Given the description of an element on the screen output the (x, y) to click on. 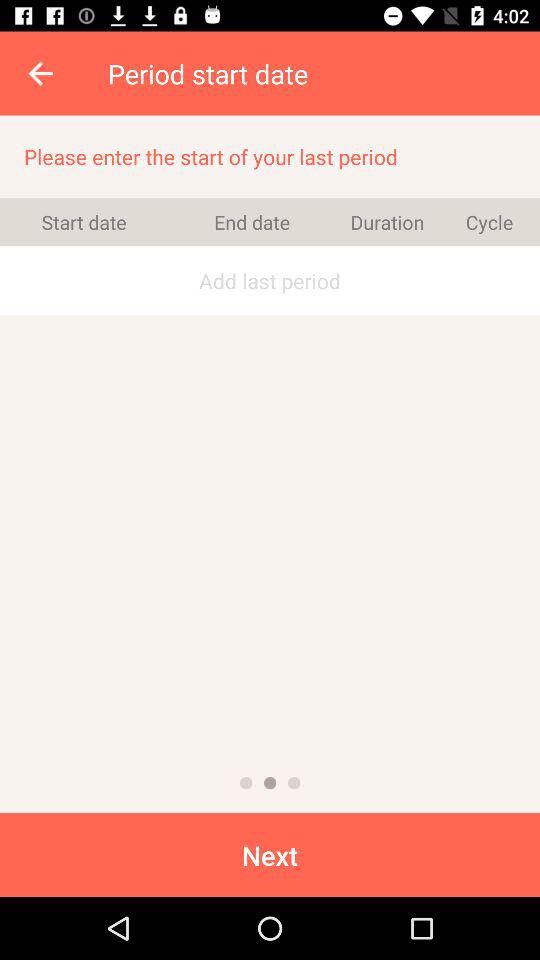
select slide (270, 783)
